Given the description of an element on the screen output the (x, y) to click on. 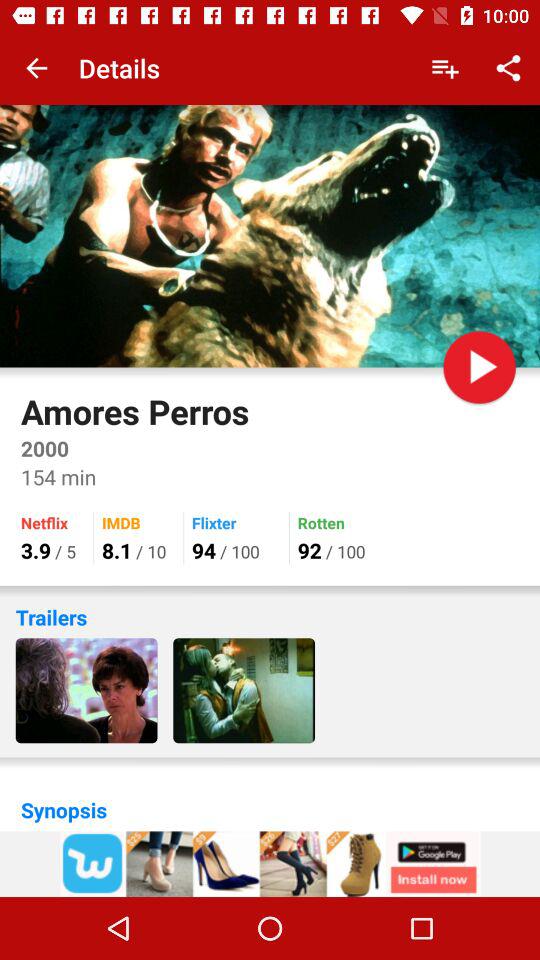
play option (479, 367)
